Given the description of an element on the screen output the (x, y) to click on. 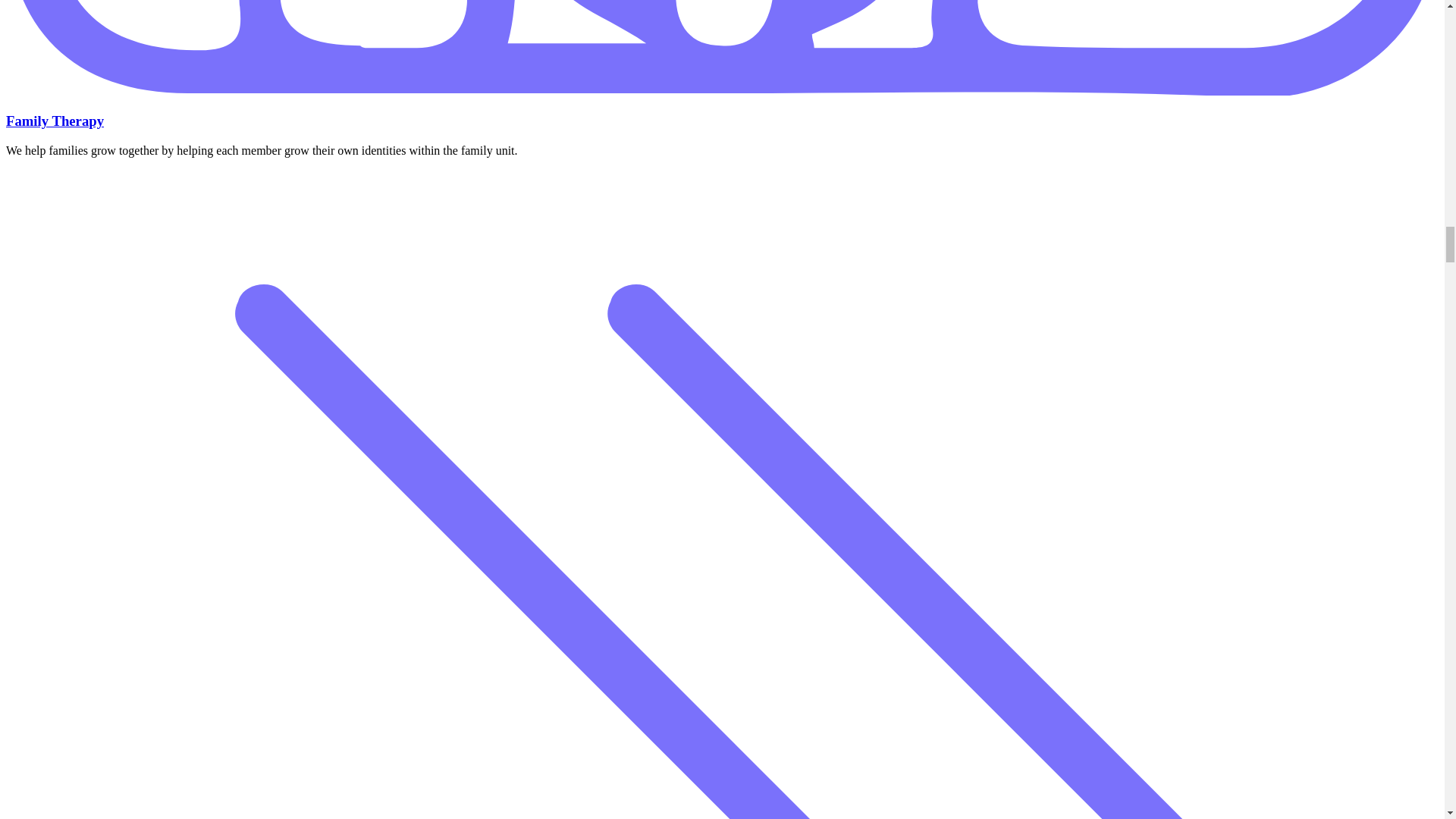
Family Therapy (54, 120)
